Given the description of an element on the screen output the (x, y) to click on. 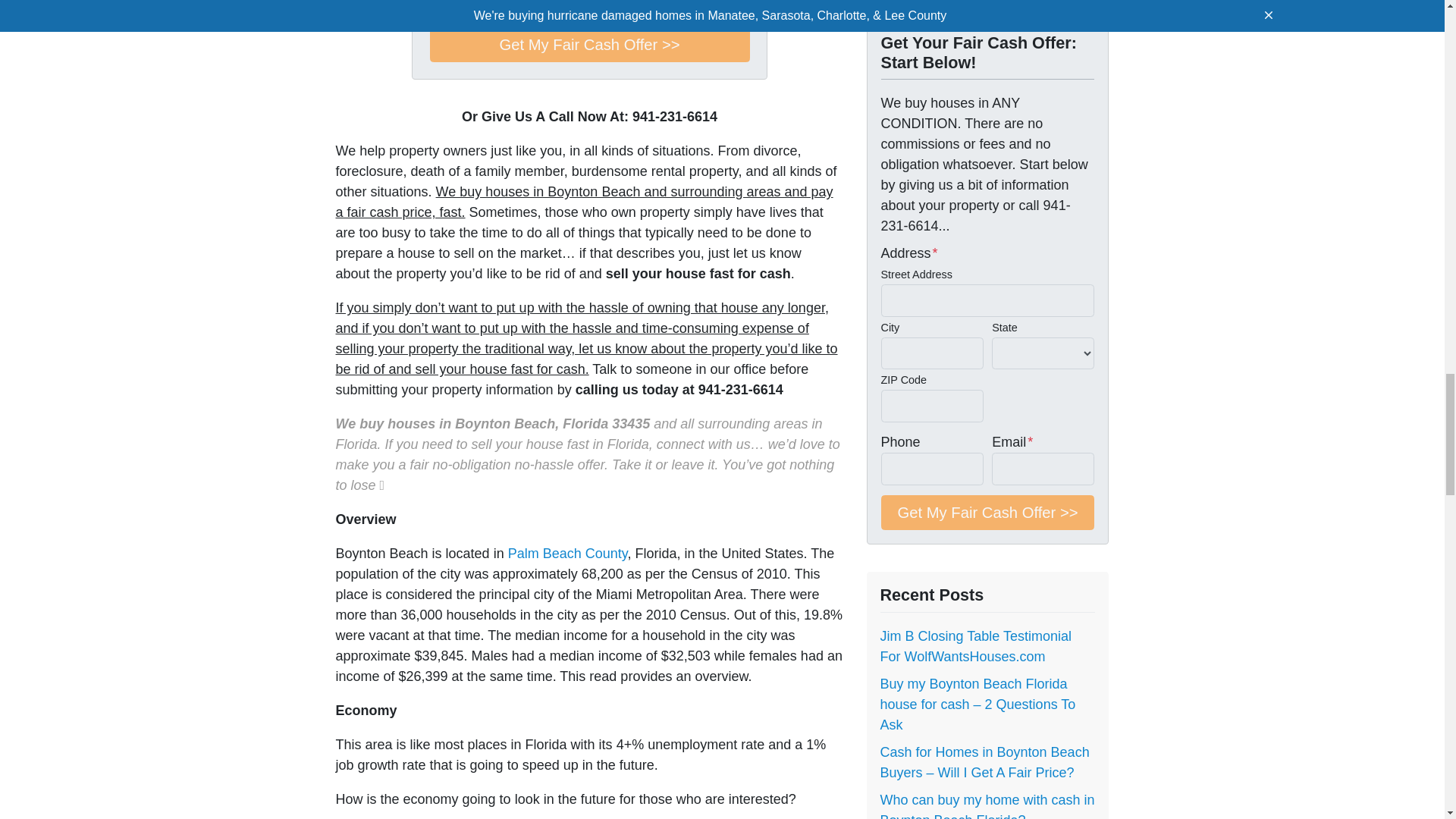
Who can buy my home with cash in Boynton Beach Florida? (986, 805)
Palm Beach County (567, 553)
Jim B Closing Table Testimonial For WolfWantsHouses.com (974, 646)
